Given the description of an element on the screen output the (x, y) to click on. 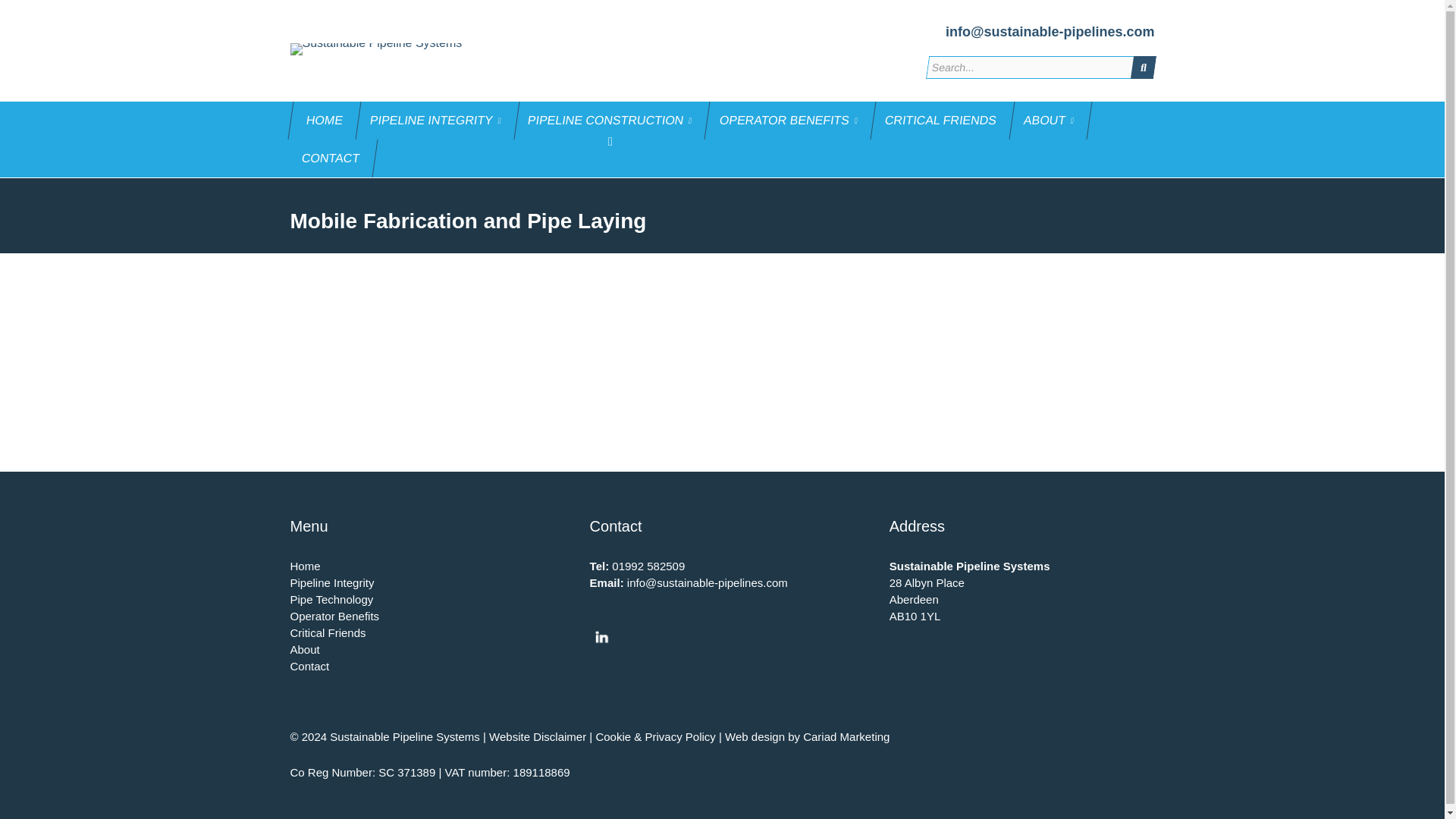
Sustainable Pipeline Systems (385, 49)
